Given the description of an element on the screen output the (x, y) to click on. 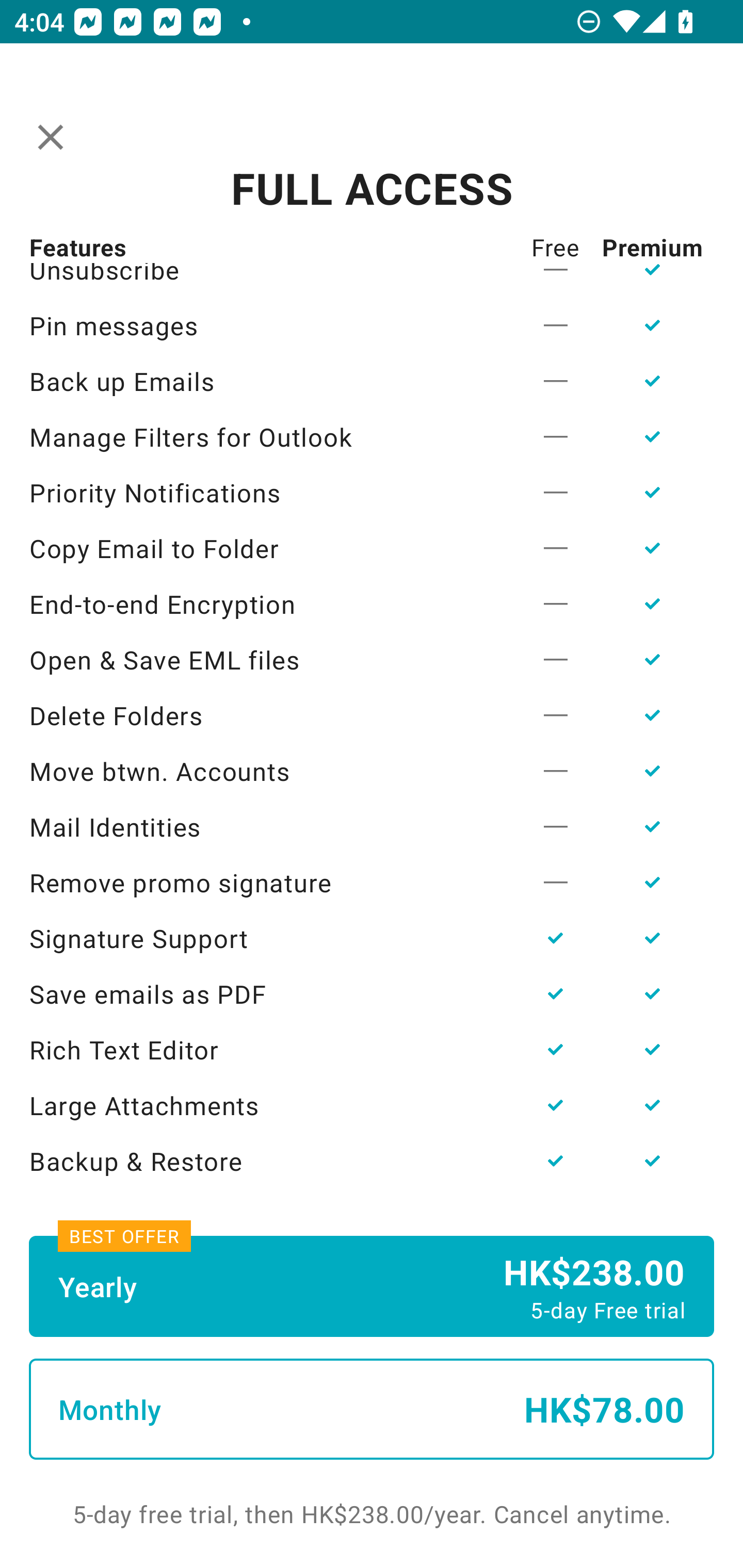
Yearly HK$238.00 5-day Free trial (371, 1286)
Monthly HK$78.00 (371, 1408)
